Given the description of an element on the screen output the (x, y) to click on. 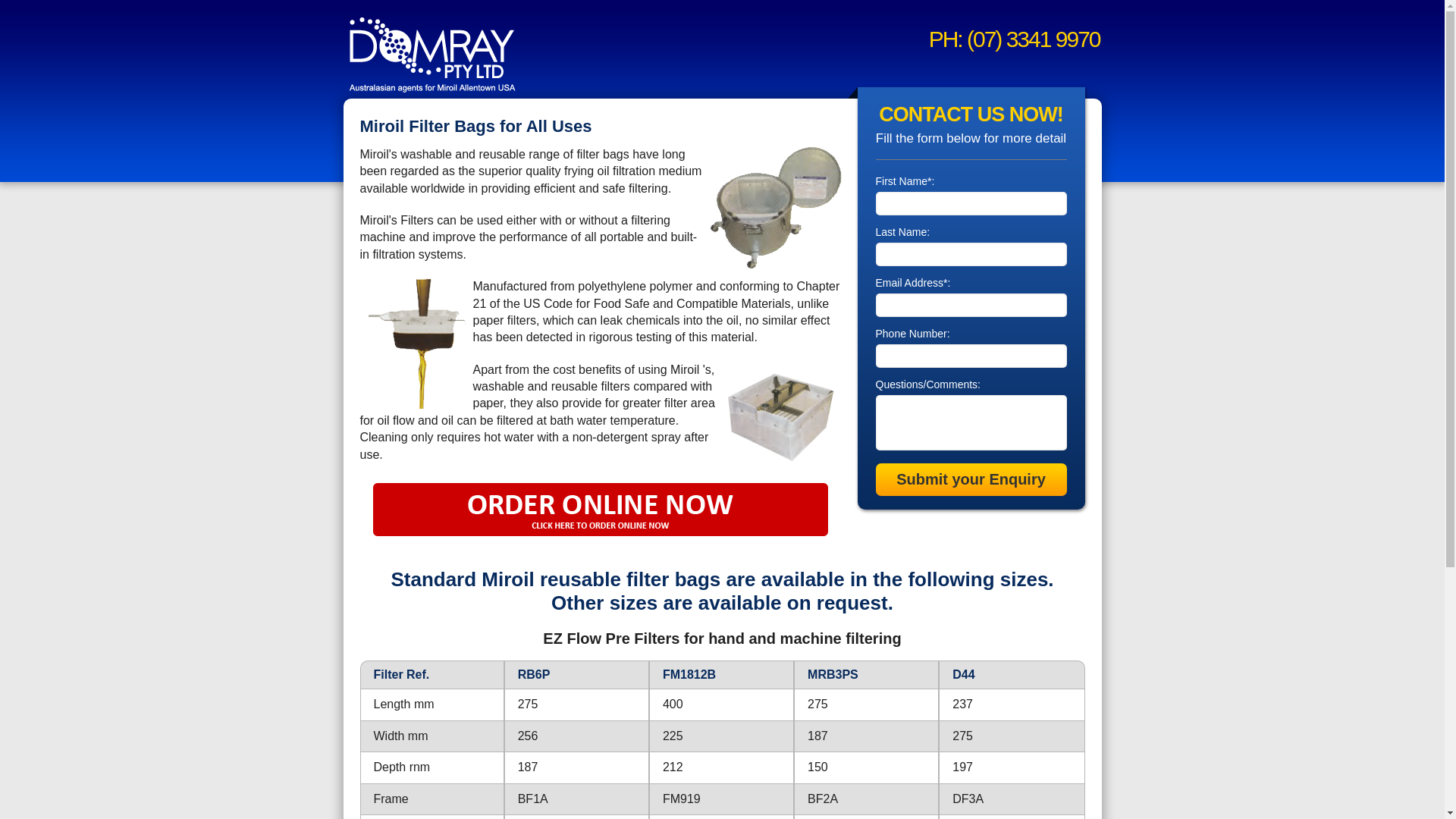
Submit your Enquiry Element type: text (970, 479)
Miroil Australasia Element type: text (432, 52)
